Given the description of an element on the screen output the (x, y) to click on. 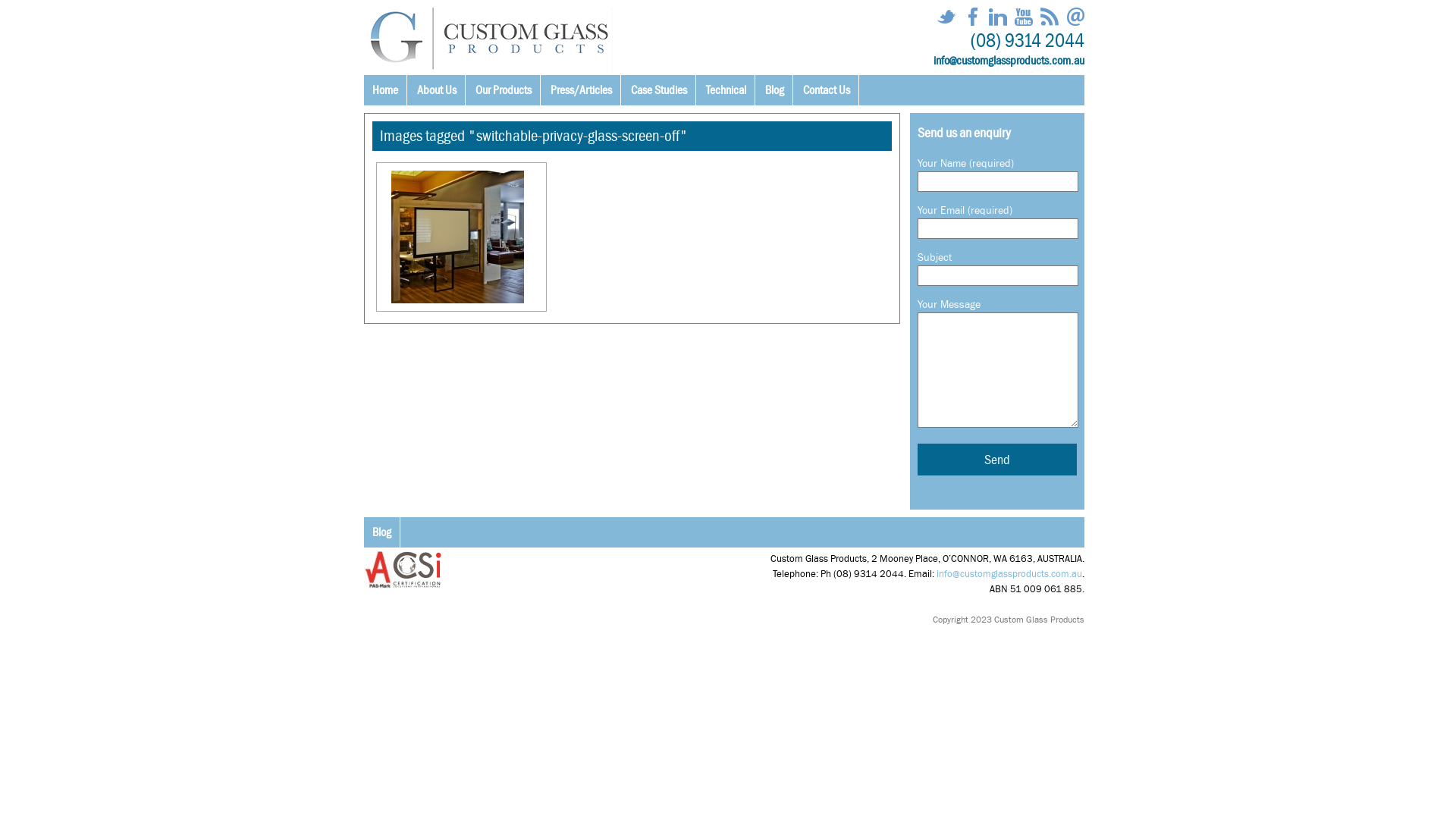
info@customglassproducts.com.au Element type: text (1008, 60)
Home Element type: text (385, 90)
Contact Us Element type: text (826, 90)
Switchable Privacy Glass Screen Off Element type: hover (457, 236)
info@customglassproducts.com.au Element type: text (1009, 573)
Switchable Privacy Glass Screen Off Element type: hover (460, 236)
Blog Element type: text (382, 532)
Case Studies Element type: text (659, 90)
Press/Articles Element type: text (581, 90)
Technical Element type: text (726, 90)
Send Element type: text (996, 459)
Our Products Element type: text (503, 90)
About Us Element type: text (436, 90)
Blog Element type: text (774, 90)
